Given the description of an element on the screen output the (x, y) to click on. 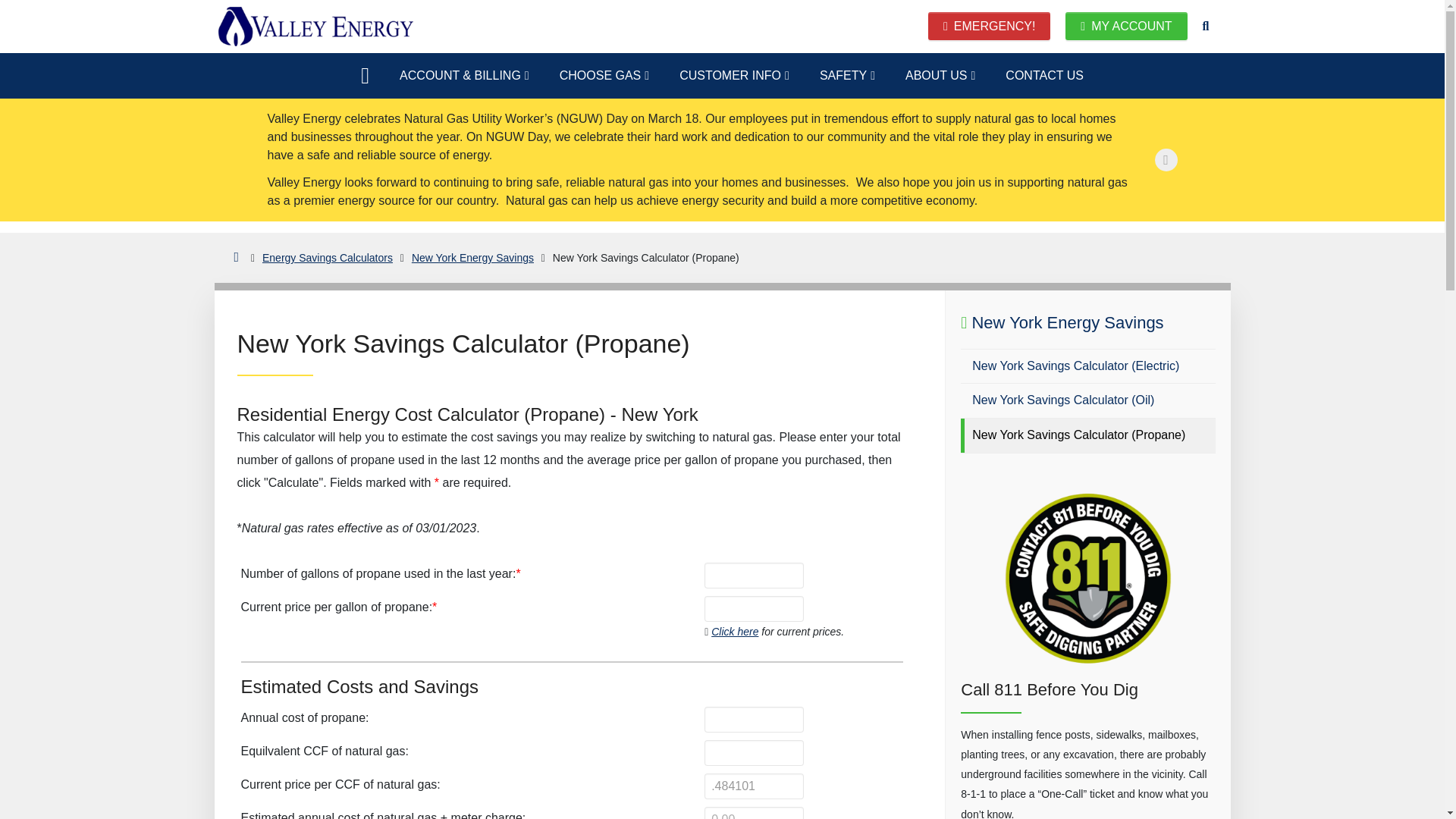
Close Notification (1165, 159)
.484101 (753, 786)
